Given the description of an element on the screen output the (x, y) to click on. 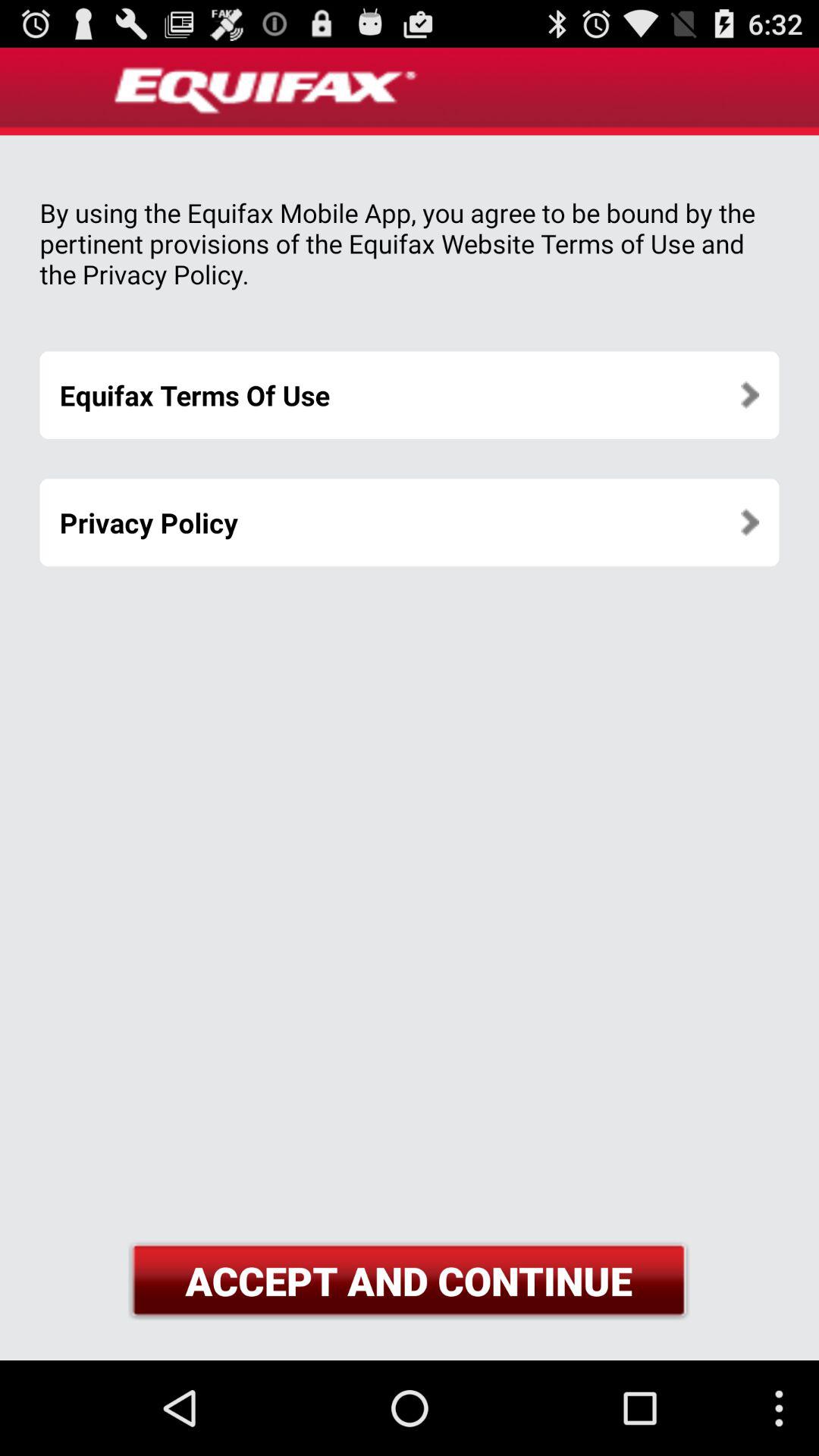
choose accept and continue at the bottom (408, 1280)
